Given the description of an element on the screen output the (x, y) to click on. 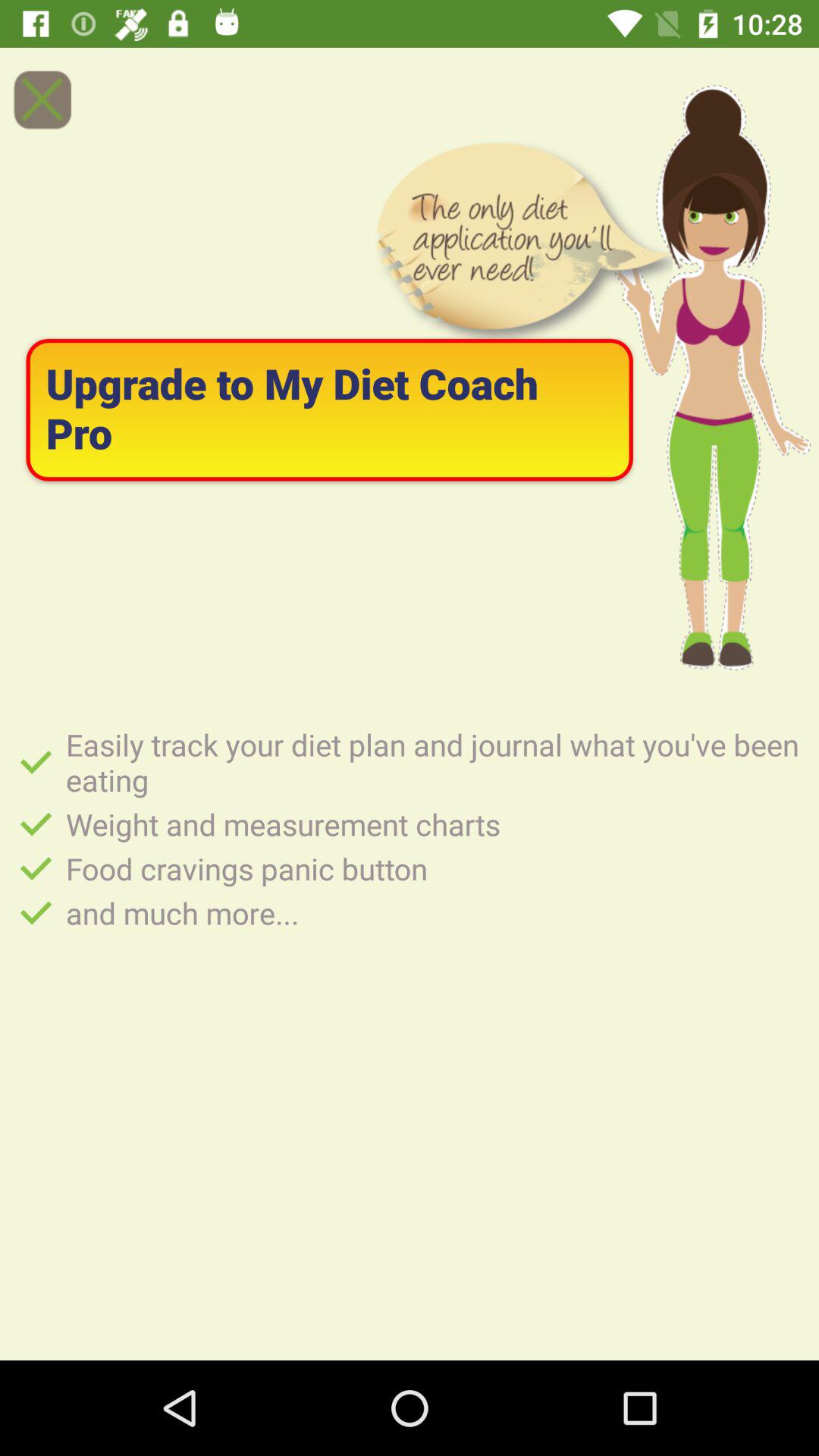
press item above upgrade to my icon (42, 99)
